Given the description of an element on the screen output the (x, y) to click on. 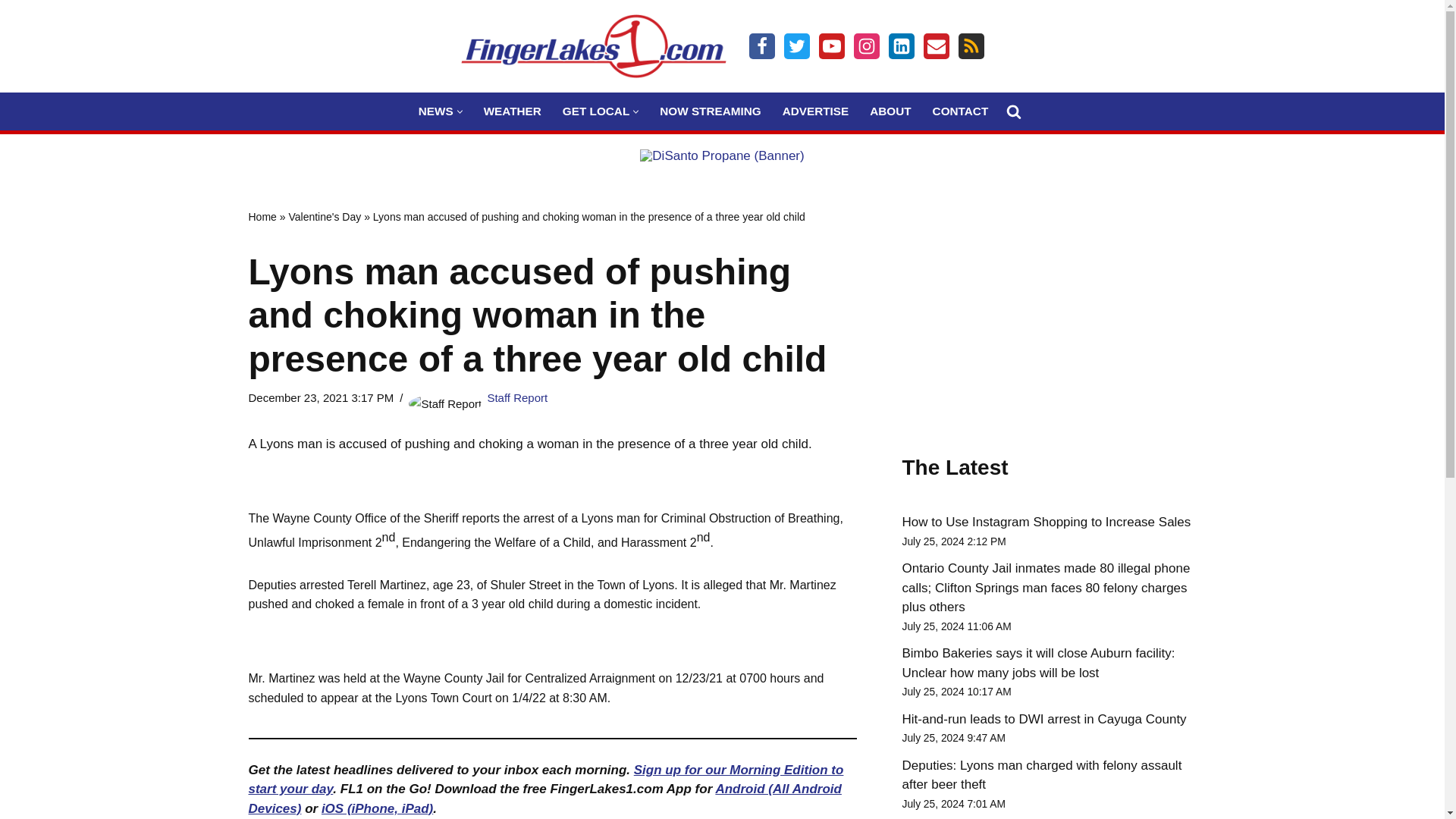
Posts by Staff Report (516, 397)
GET LOCAL (595, 111)
Feed (971, 45)
Youtube (831, 45)
CONTACT (960, 111)
ADVERTISE (815, 111)
Facebook (761, 45)
WEATHER (512, 111)
Email Us (936, 45)
LinkIn (901, 45)
Twitter (796, 45)
NEWS (435, 111)
Instagram (866, 45)
ABOUT (890, 111)
Skip to content (11, 31)
